Given the description of an element on the screen output the (x, y) to click on. 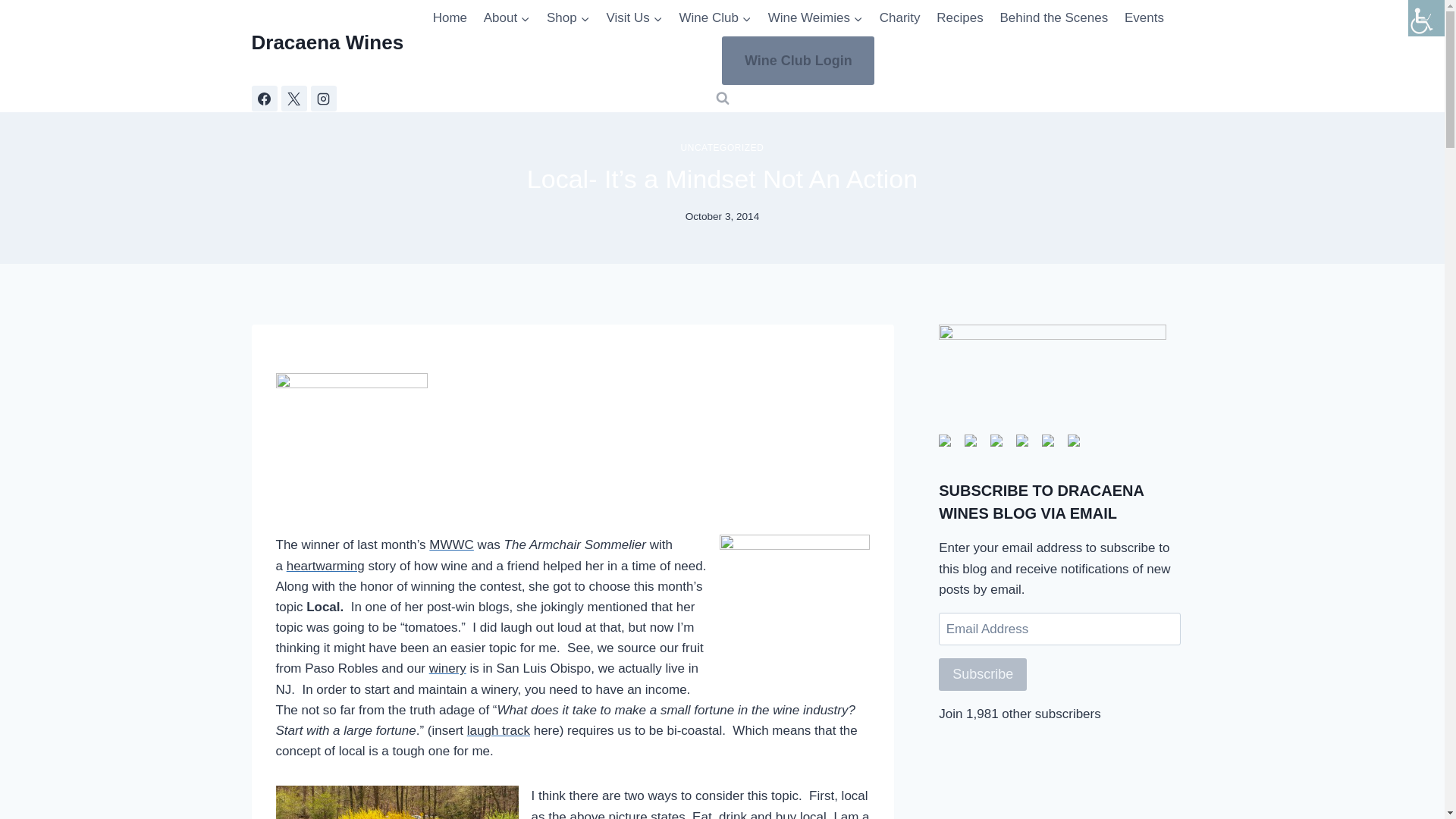
Dracaena Wines, Paso Robles, MWWC, Central Coast  (794, 610)
About (507, 18)
Dracaena Wines (327, 42)
Home (450, 18)
Dracaena Wines, Central Coast (397, 802)
Dracaena Wines, Paso Robles, Central Coast (352, 447)
Wine Club (715, 18)
Wine Weimies (815, 18)
Shop (567, 18)
Visit Us (634, 18)
